Given the description of an element on the screen output the (x, y) to click on. 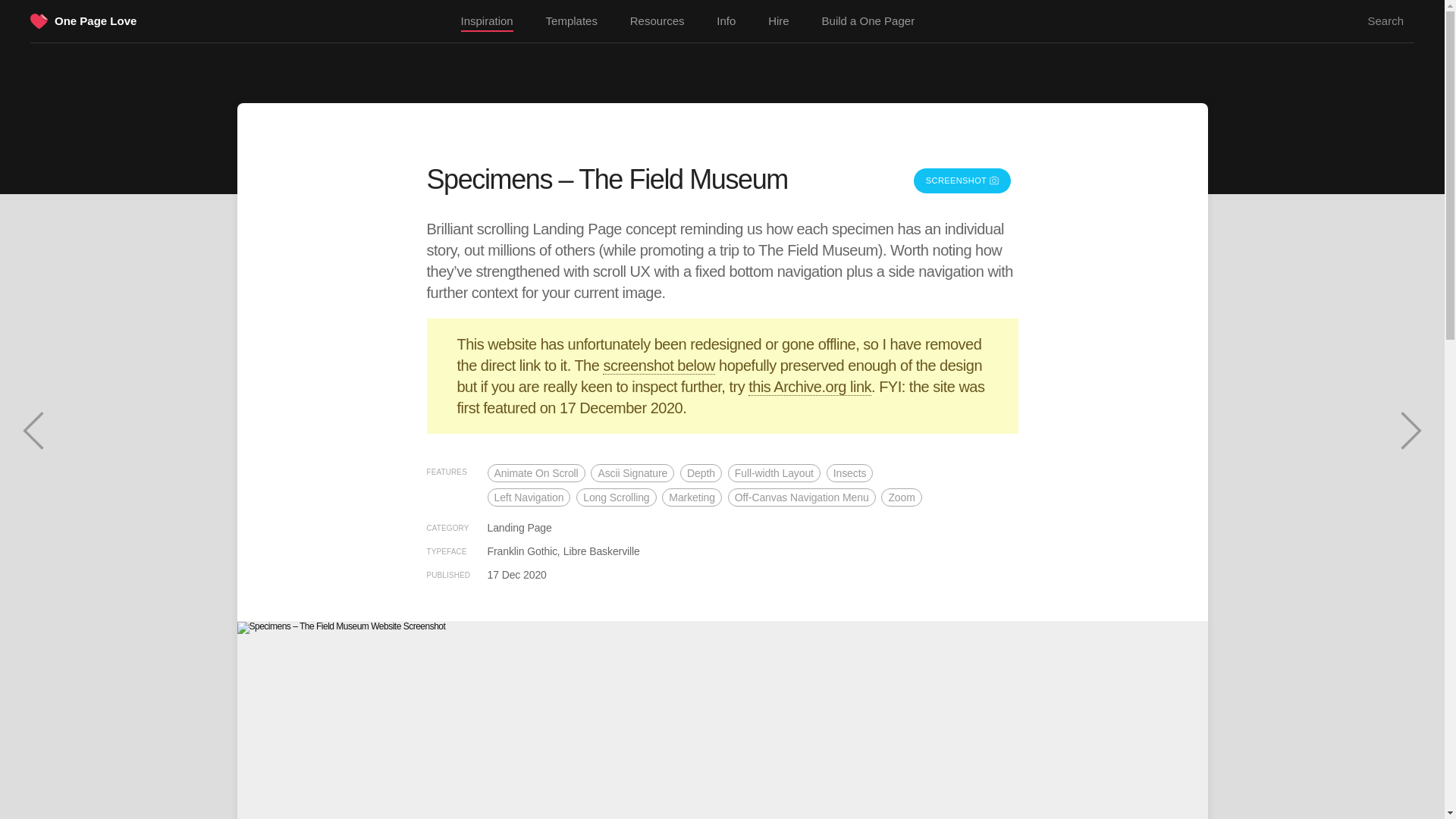
Find One Page website templates (571, 21)
Inspiration (486, 22)
Go to the One Page Love home page (39, 22)
One Page Love (95, 20)
Go to the One Page Love home page (95, 20)
One Page website inspiration gallery (486, 22)
